Given the description of an element on the screen output the (x, y) to click on. 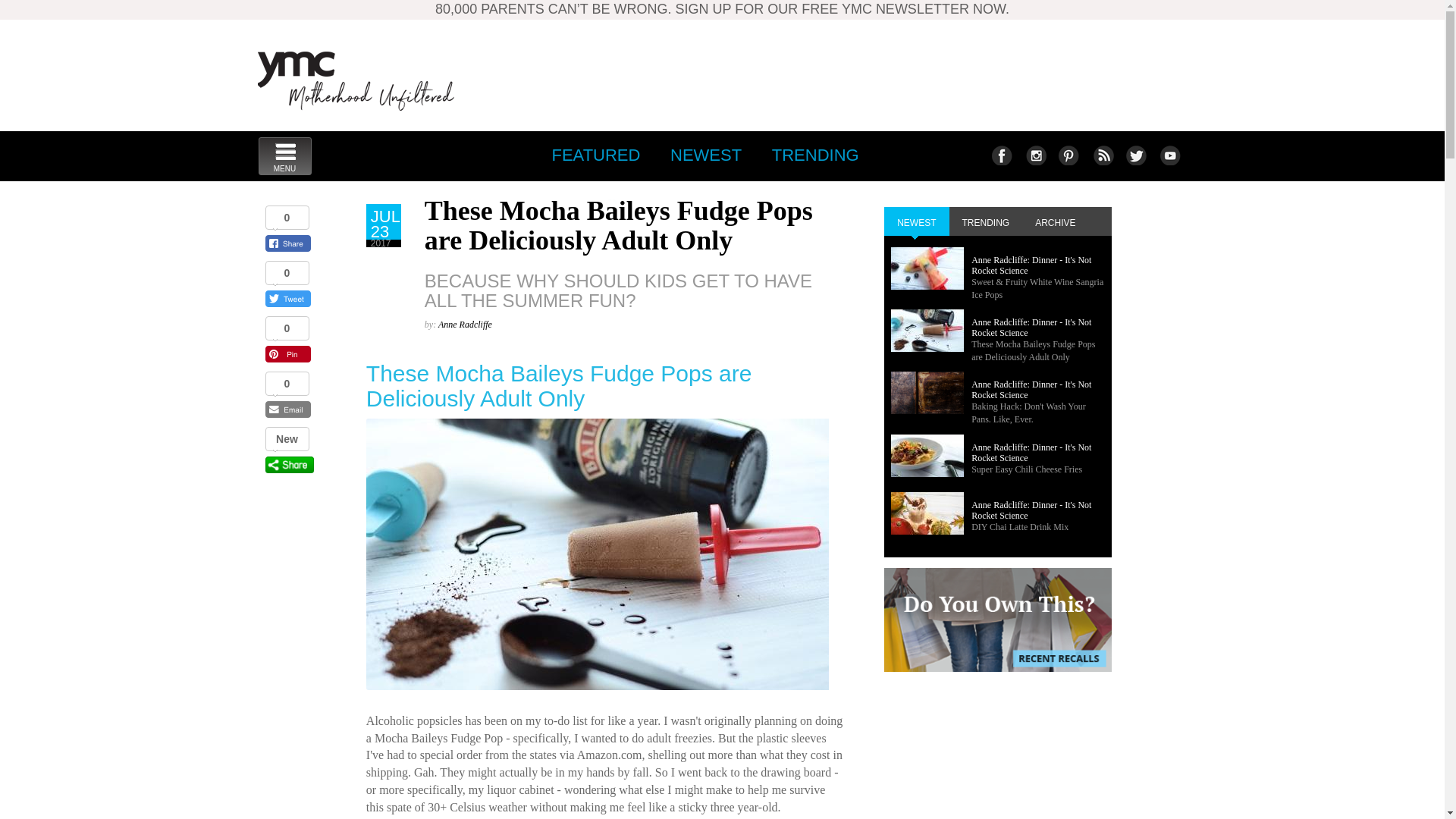
Twitter (1135, 154)
Instagram (1034, 154)
RSS (1101, 154)
FEATURED (595, 155)
Home (355, 79)
TRENDING (284, 156)
Facebook (815, 155)
YouTube (1001, 154)
Pinterest (1168, 154)
NEWEST (1068, 154)
SEARCH (705, 155)
